Given the description of an element on the screen output the (x, y) to click on. 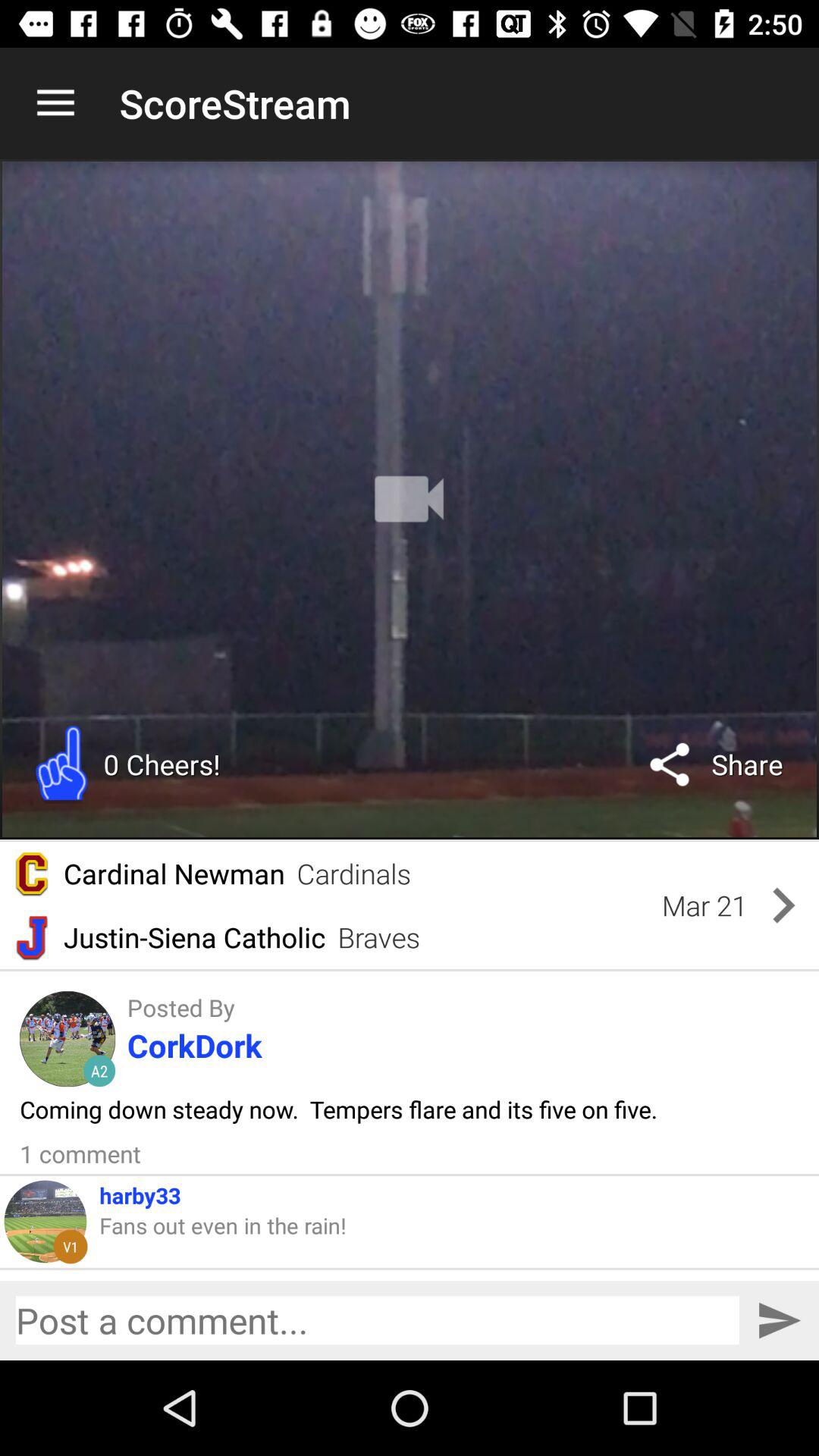
open the icon above 1 comment (338, 1109)
